Given the description of an element on the screen output the (x, y) to click on. 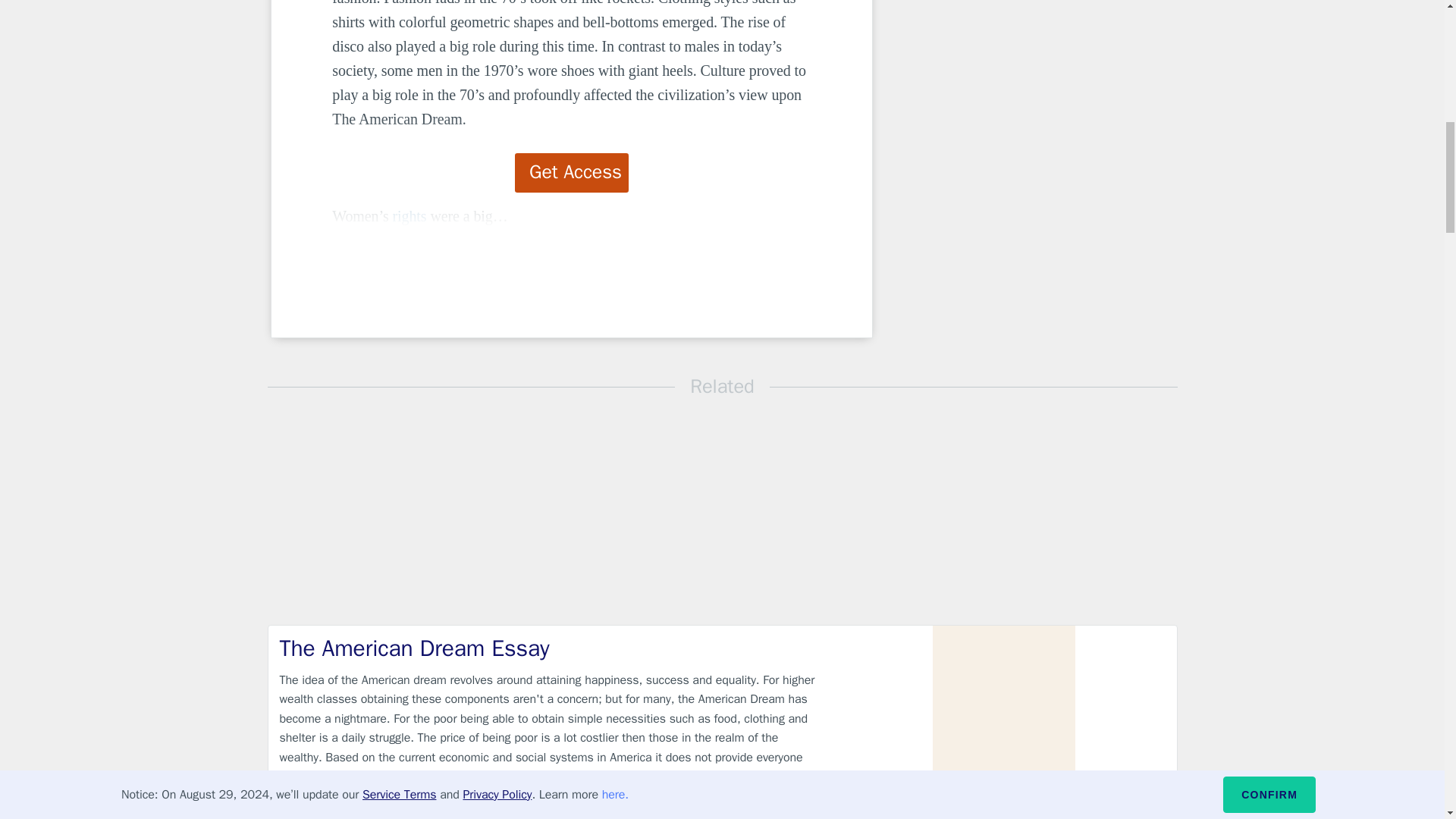
Read More (1126, 803)
Get Access (571, 172)
The American Dream Essay (548, 648)
rights (409, 216)
